Given the description of an element on the screen output the (x, y) to click on. 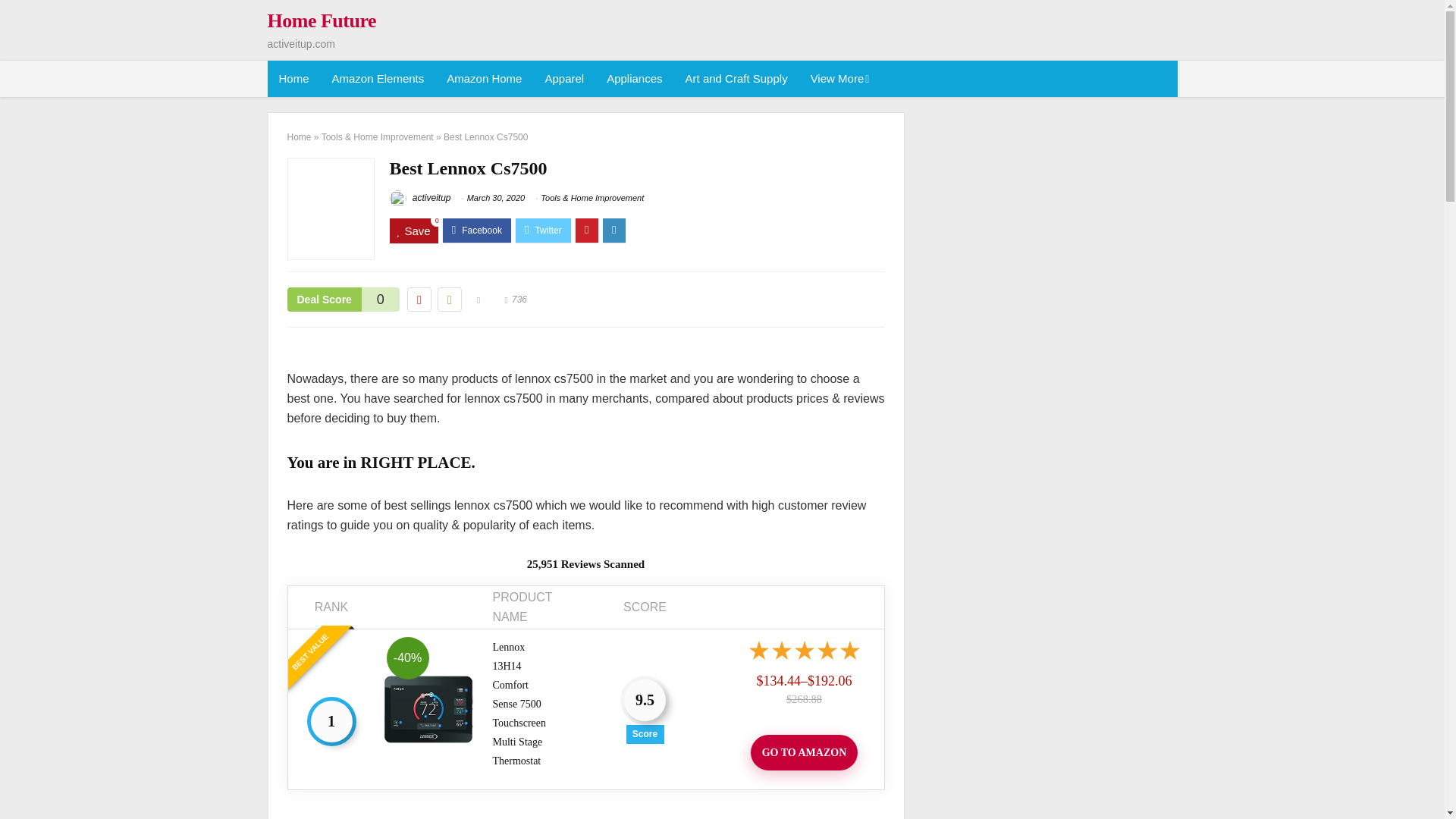
Amazon Home (483, 78)
View More (838, 78)
Vote down (418, 299)
Apparel (563, 78)
Amazon Elements (377, 78)
Appliances (633, 78)
Home (293, 78)
Art and Craft Supply (736, 78)
